Given the description of an element on the screen output the (x, y) to click on. 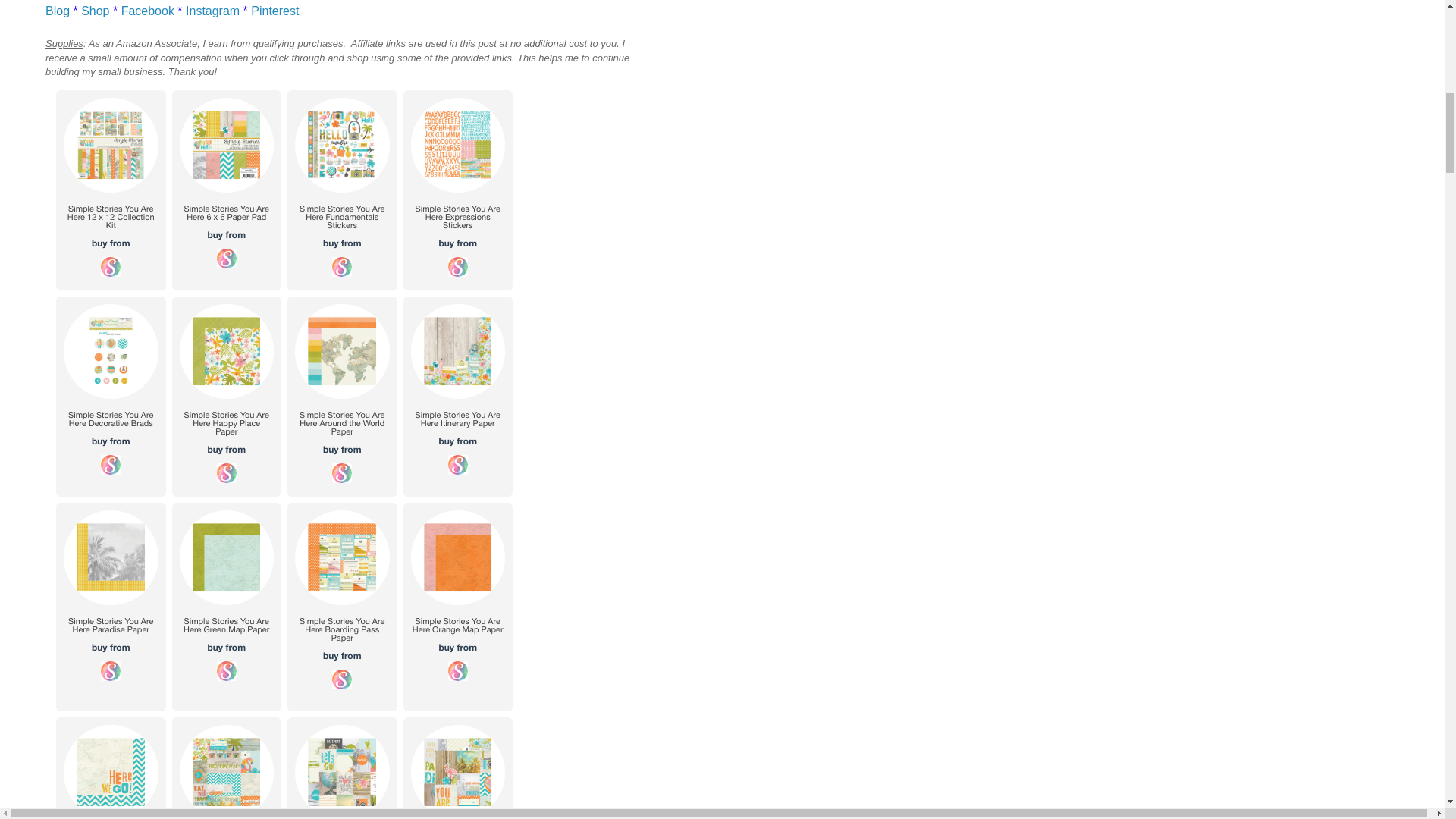
Blog (57, 10)
Instagram (213, 10)
Pinterest (274, 10)
Shop (94, 10)
Facebook (147, 10)
